Given the description of an element on the screen output the (x, y) to click on. 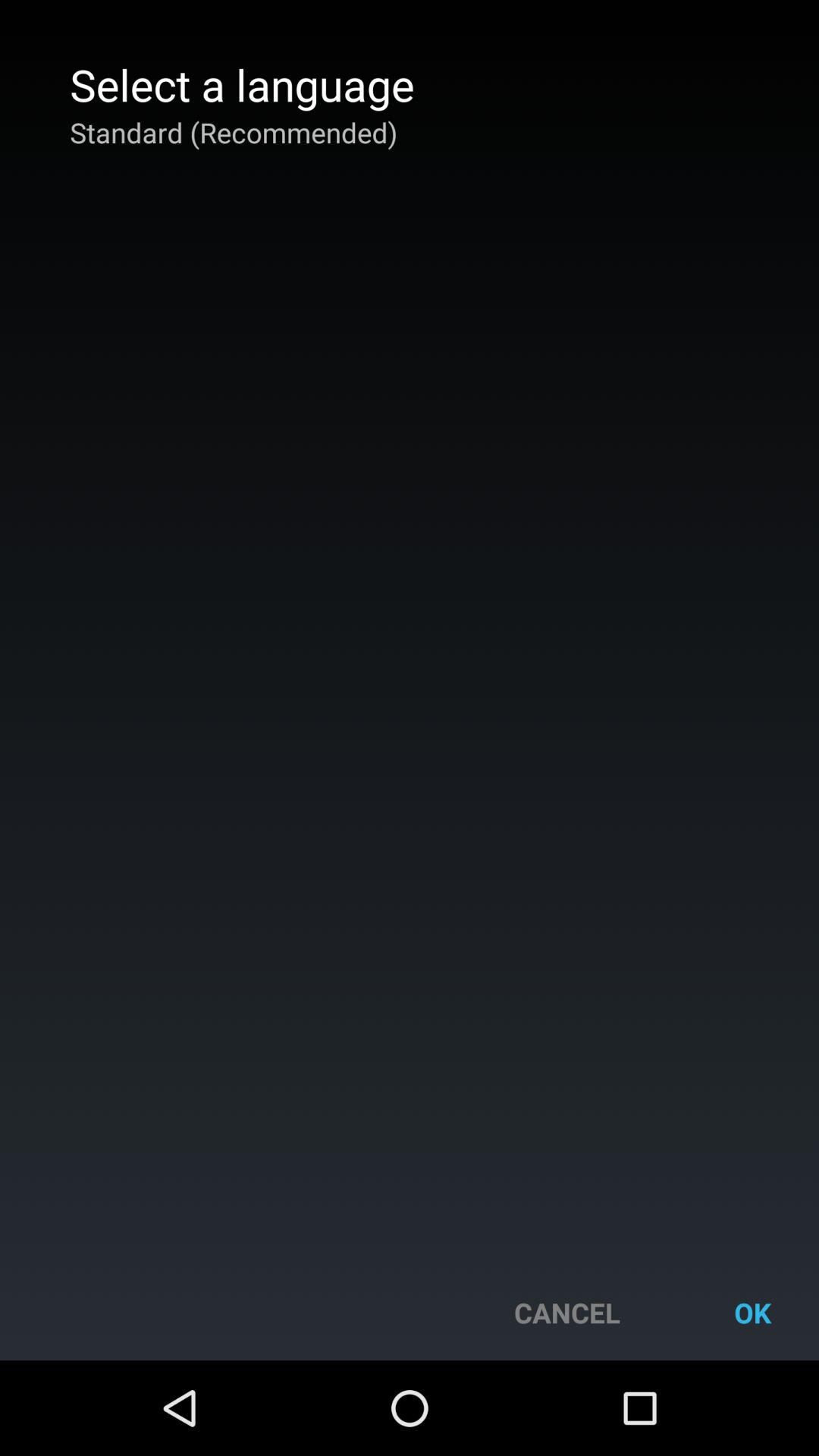
jump until the select a language item (241, 84)
